Given the description of an element on the screen output the (x, y) to click on. 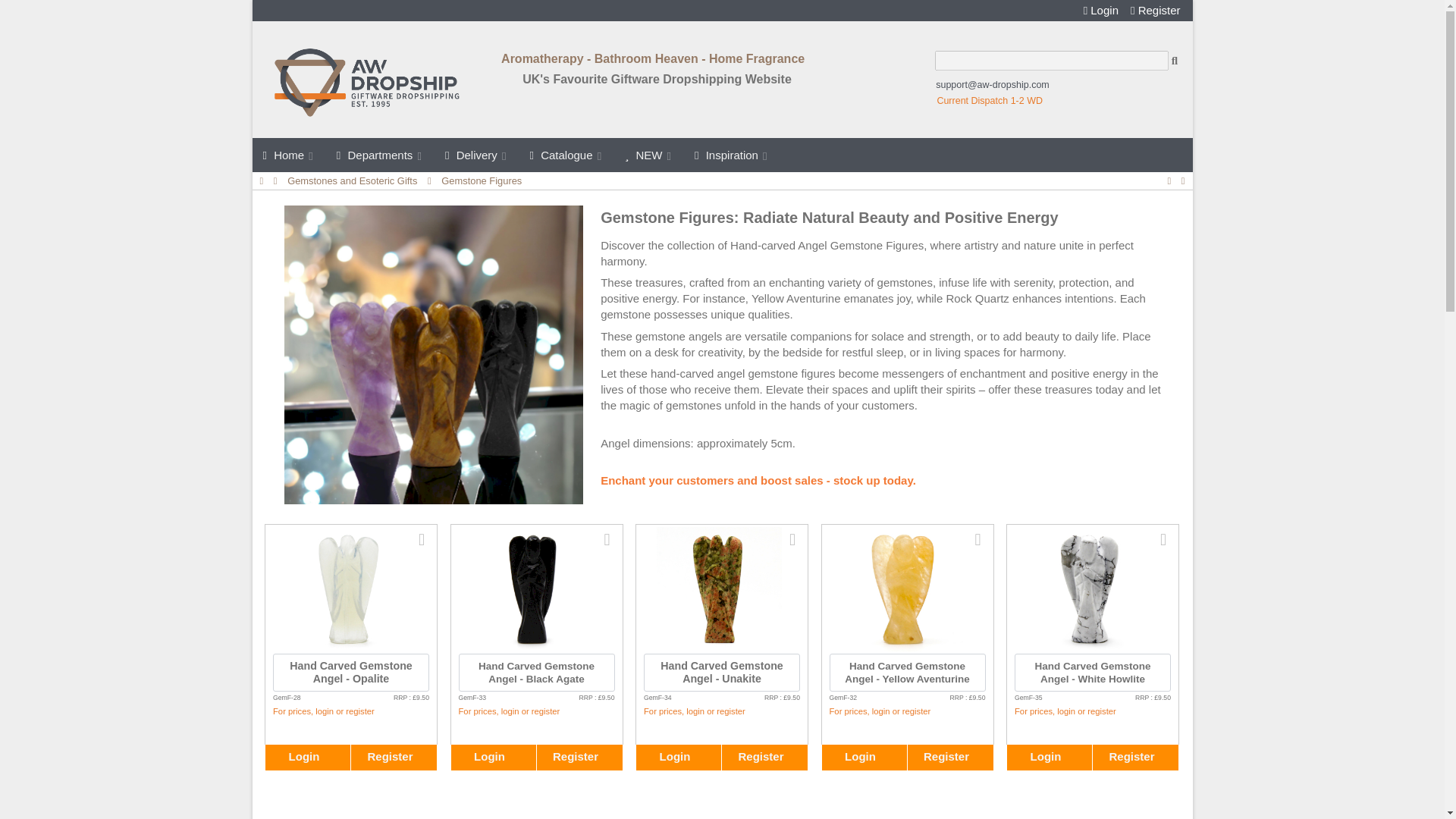
Hand Carved Gemstone Angel - Opalite (348, 645)
Hand Carved Gemstone Angel - Unakite (718, 645)
Gemstone Figures - Ancient Wisdom Dropshipping (433, 353)
Delivery (476, 154)
Register (1155, 10)
Hand Carved Gemstone Angel - Yellow Aventurine (904, 645)
Catalogue (566, 154)
NEW (649, 154)
More info (606, 539)
More info (1163, 539)
More info (421, 539)
Departments (379, 154)
